Given the description of an element on the screen output the (x, y) to click on. 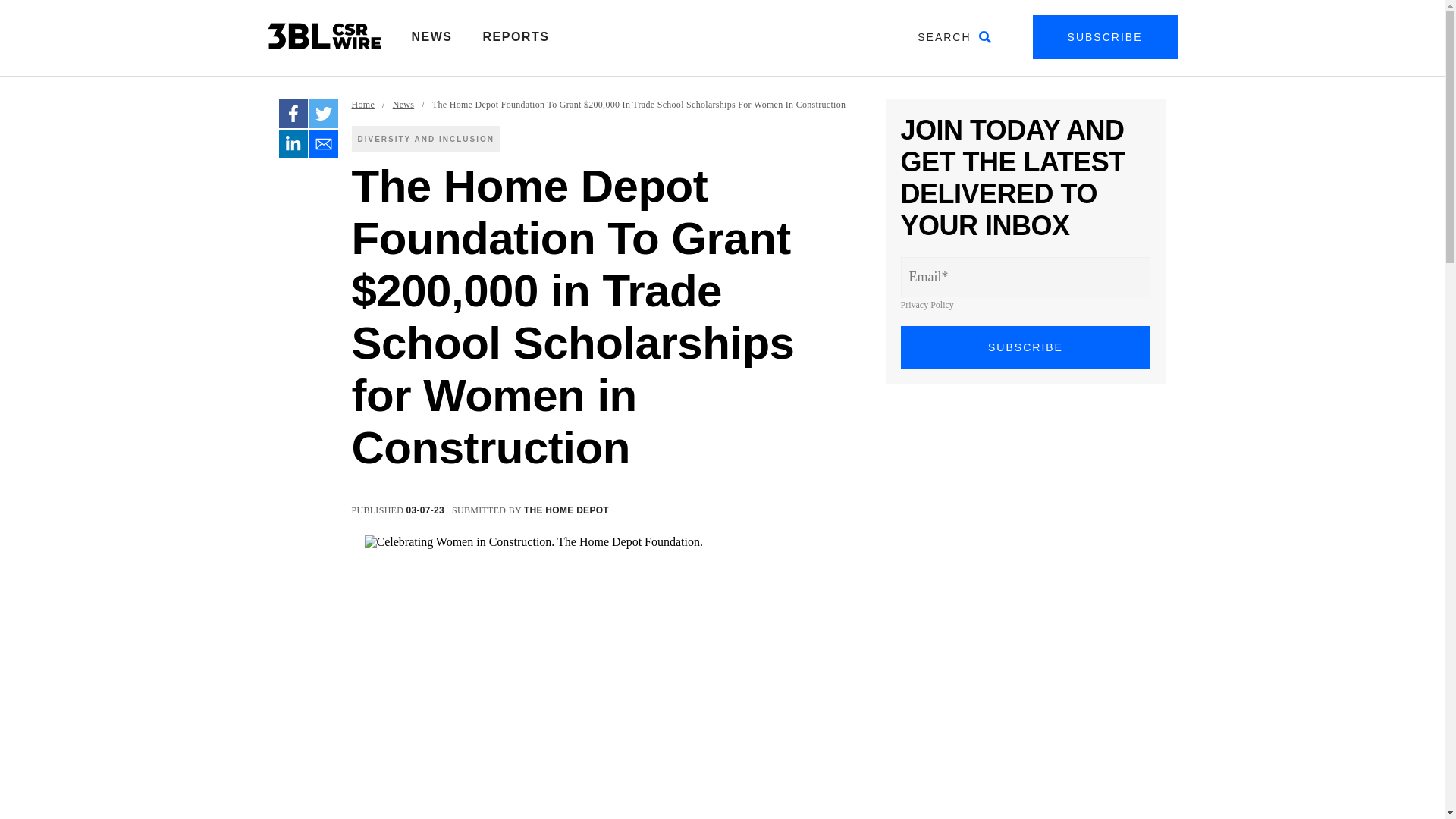
SEARCH (953, 36)
Linkedin (293, 143)
Home (363, 104)
Facebook (293, 113)
SUBSCRIBE (1026, 346)
News (403, 104)
Twitter (322, 113)
Privacy Policy (927, 304)
SUBSCRIBE (1104, 36)
DIVERSITY AND INCLUSION (426, 139)
